Given the description of an element on the screen output the (x, y) to click on. 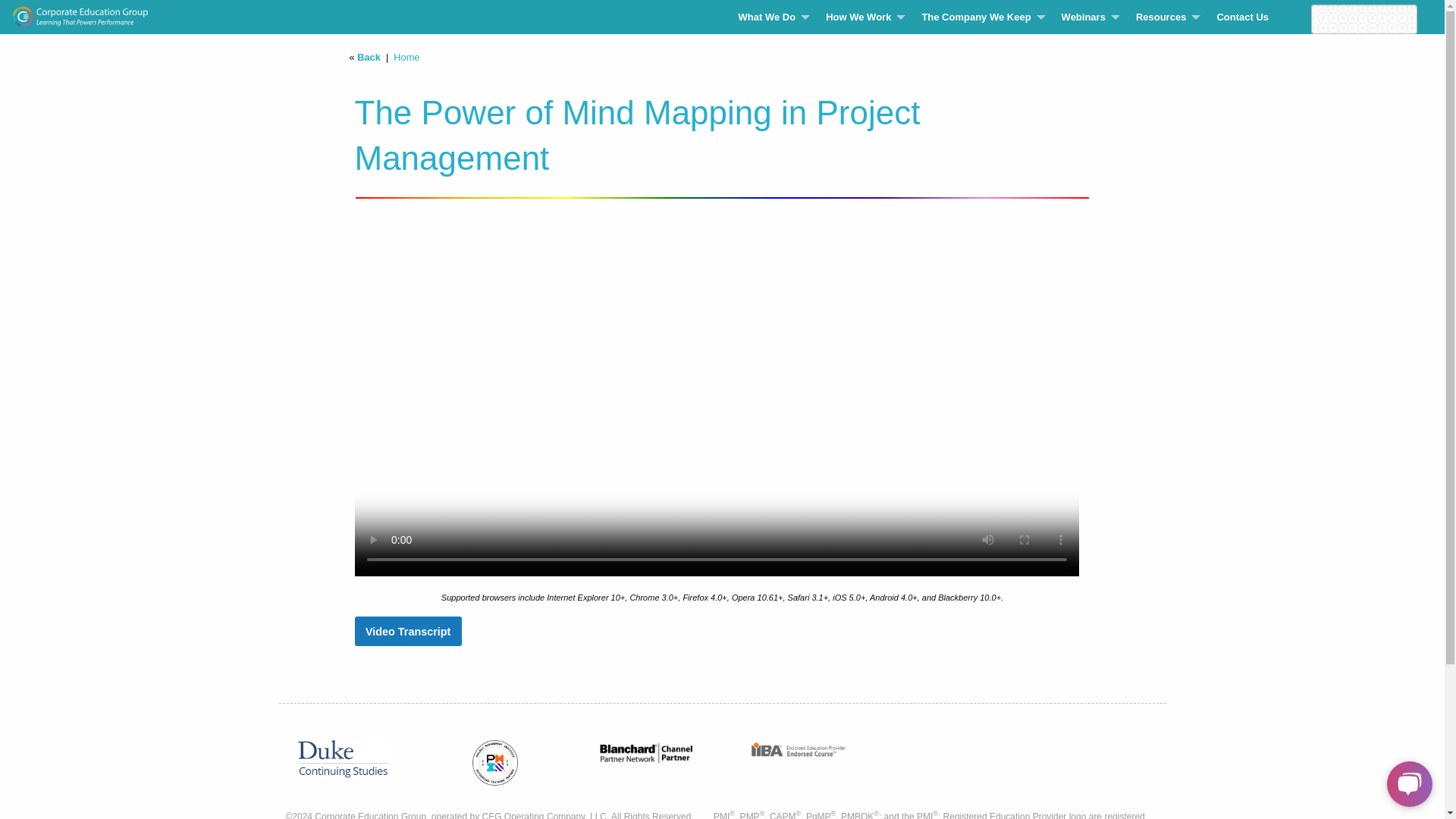
The Company We Keep (978, 17)
How We Work (860, 17)
What We Do (769, 17)
